Given the description of an element on the screen output the (x, y) to click on. 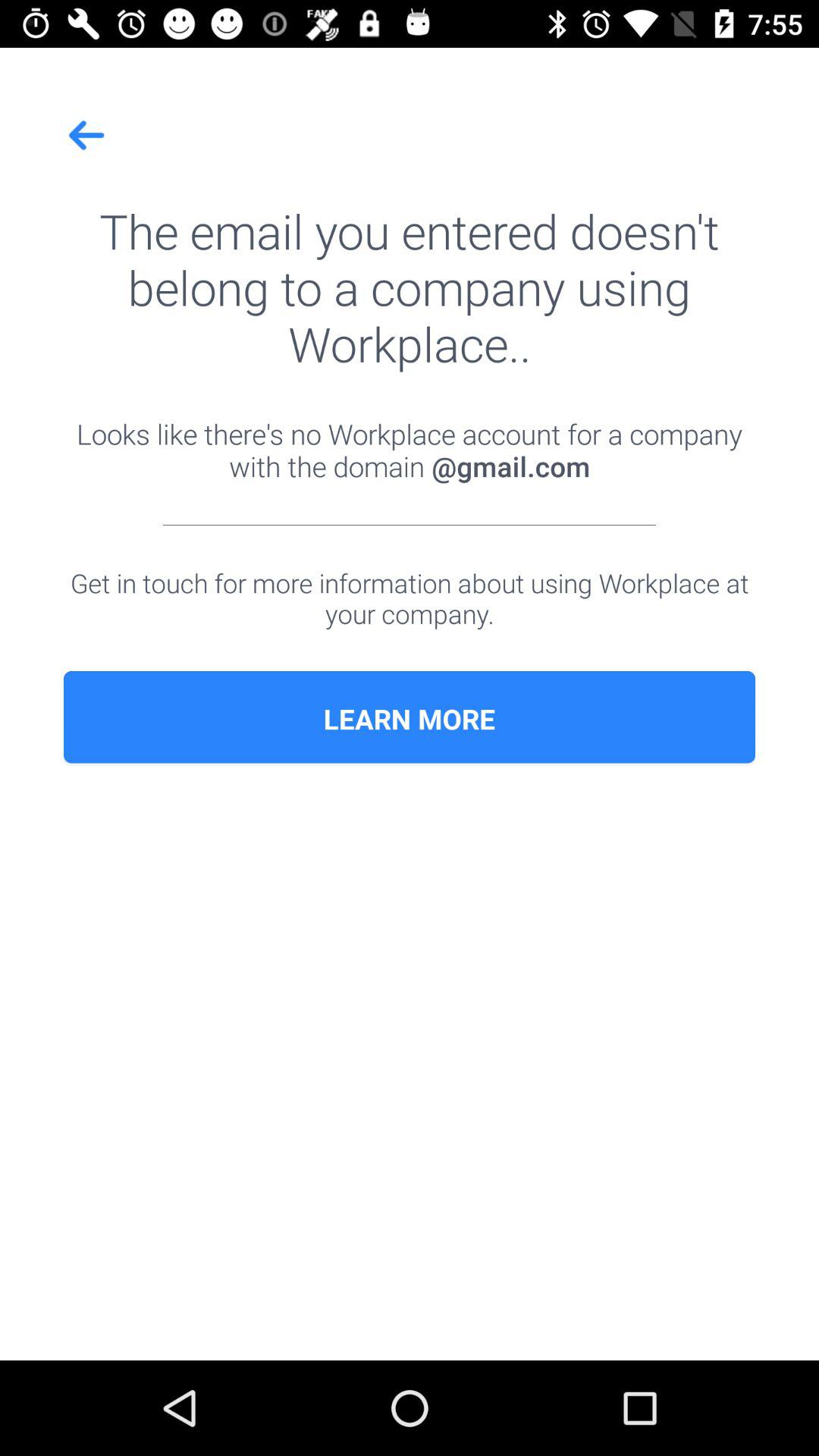
open the learn more icon (409, 718)
